Given the description of an element on the screen output the (x, y) to click on. 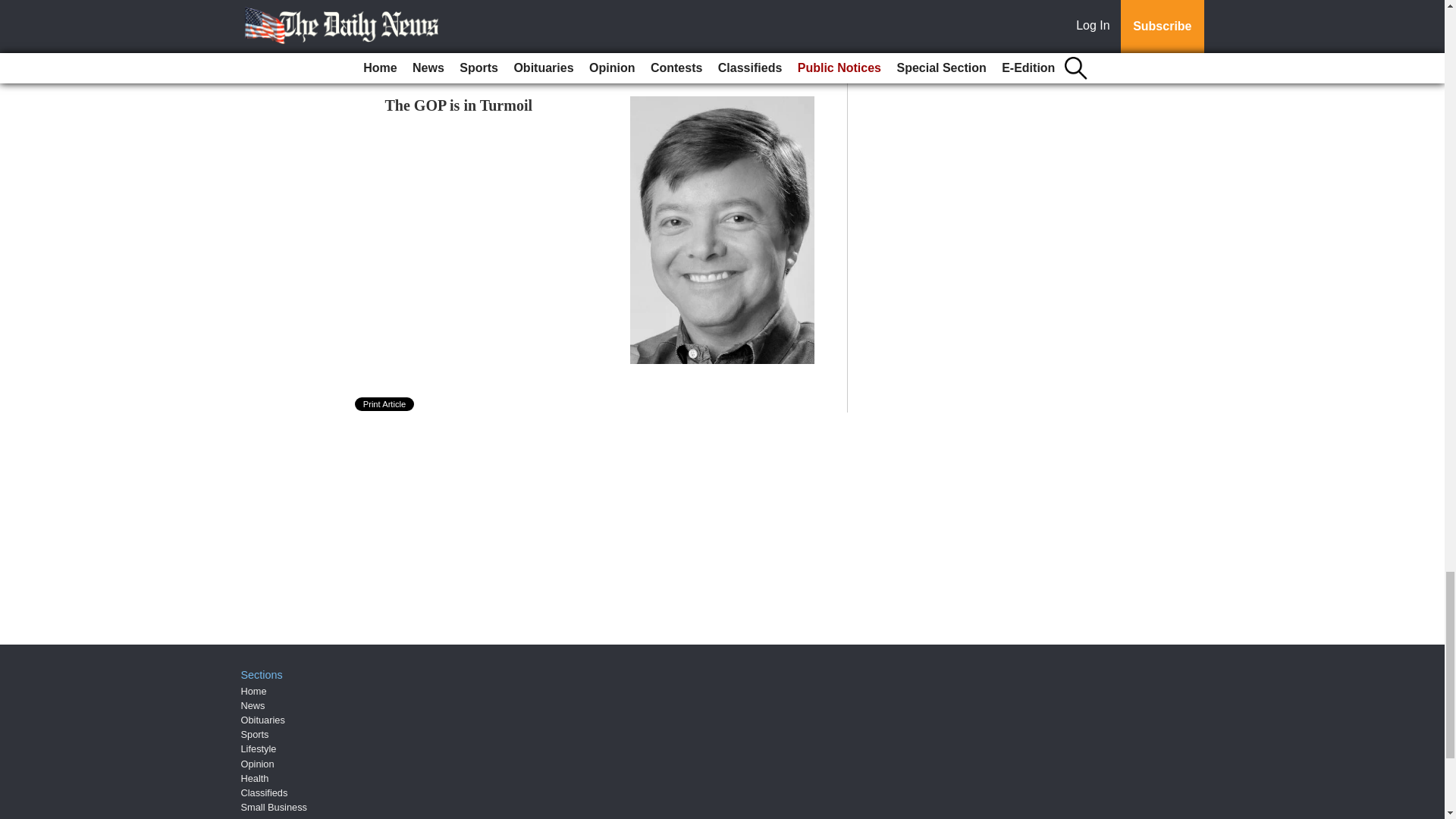
Print Article (384, 404)
Lifestyle (258, 748)
The GOP is in Turmoil (458, 105)
News (252, 705)
The GOP is in Turmoil (458, 105)
Obituaries (263, 719)
Sports (255, 734)
Opinion (258, 763)
Home (253, 690)
